Given the description of an element on the screen output the (x, y) to click on. 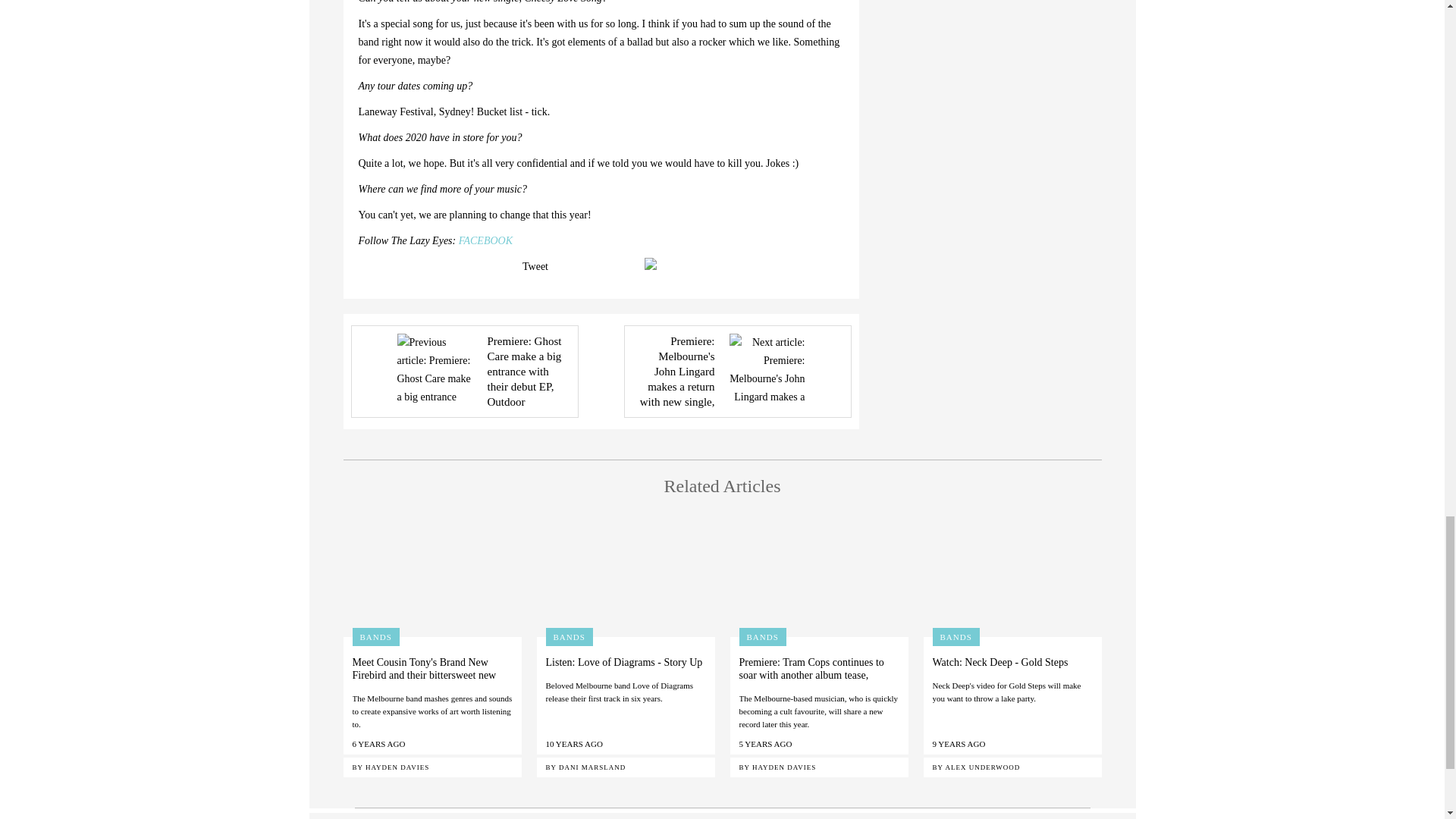
Share via email (654, 263)
